Given the description of an element on the screen output the (x, y) to click on. 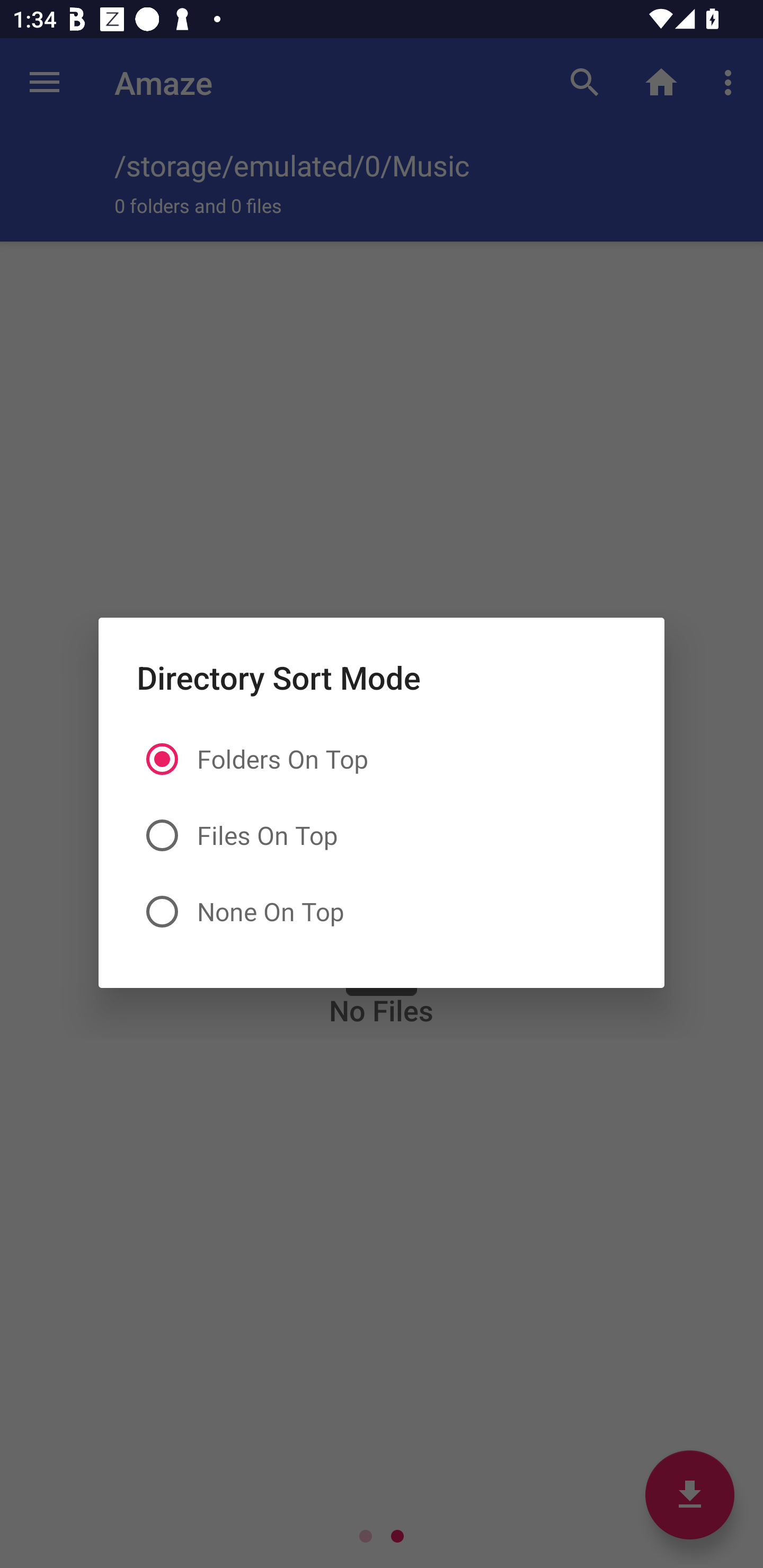
Folders On Top (381, 758)
Files On Top (381, 834)
None On Top (381, 911)
